Given the description of an element on the screen output the (x, y) to click on. 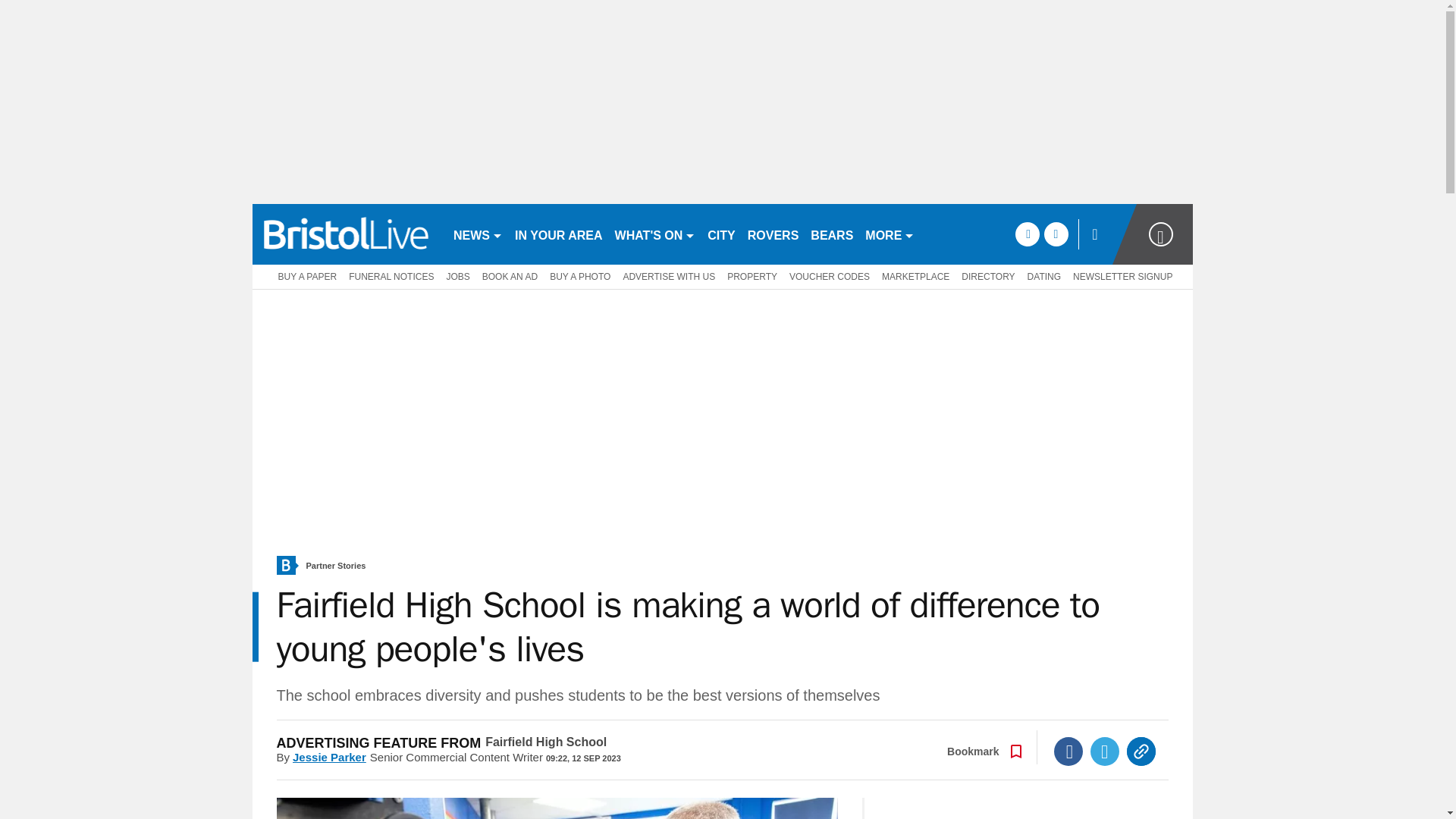
twitter (1055, 233)
bristolpost (345, 233)
WHAT'S ON (654, 233)
facebook (1026, 233)
Facebook (1068, 751)
NEWS (477, 233)
MORE (889, 233)
ROVERS (773, 233)
BEARS (832, 233)
Twitter (1104, 751)
